Given the description of an element on the screen output the (x, y) to click on. 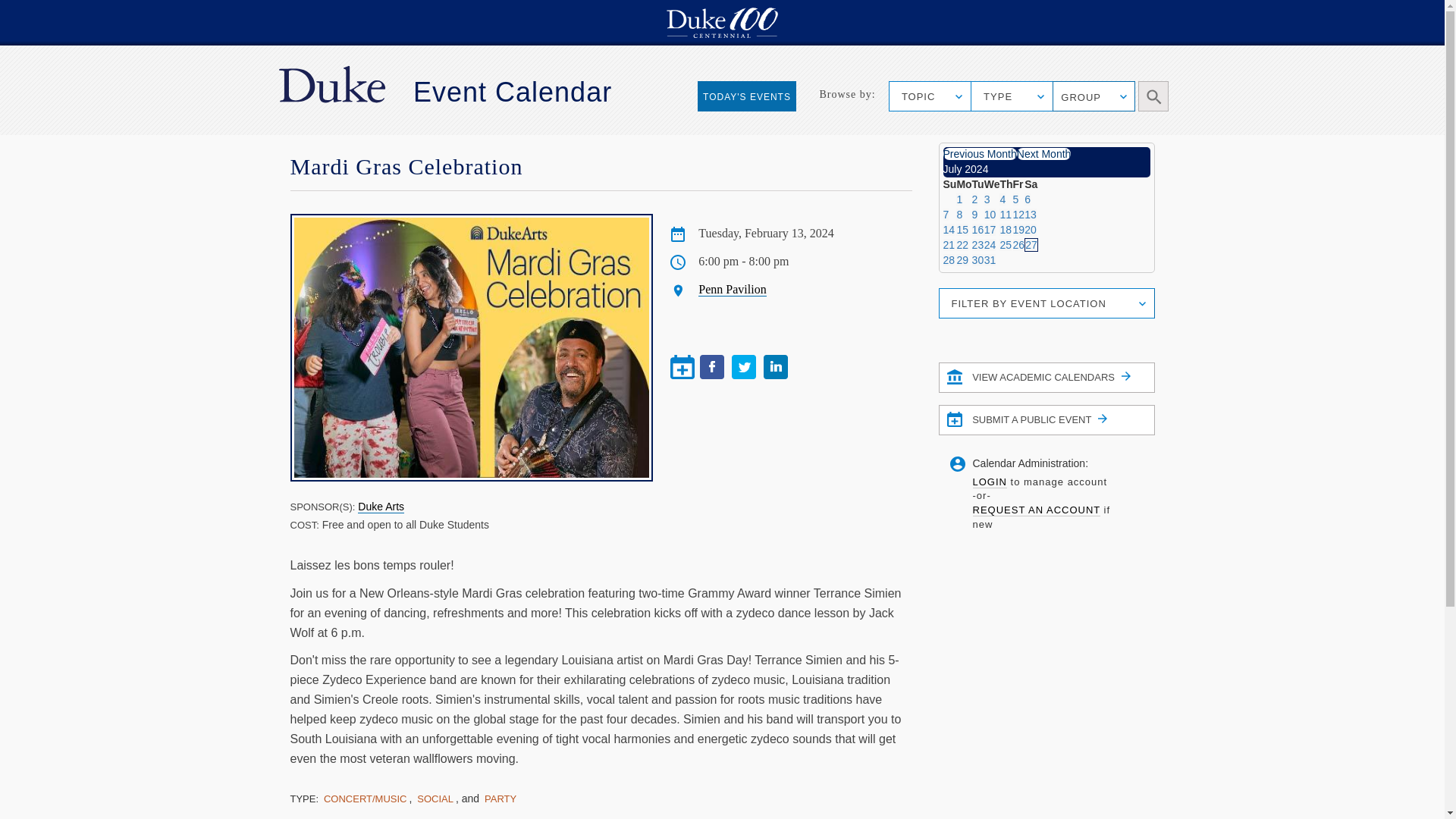
Duke Arts (381, 506)
SOCIAL (434, 798)
TOPIC (929, 96)
Tuesday (978, 184)
Penn Pavilion (731, 289)
Prev (979, 153)
Sunday (949, 184)
Time (678, 262)
Next (1043, 153)
TODAY'S EVENTS (746, 96)
Saturday (1030, 184)
13 (1030, 214)
Monday (963, 184)
Next Month (1043, 153)
